Given the description of an element on the screen output the (x, y) to click on. 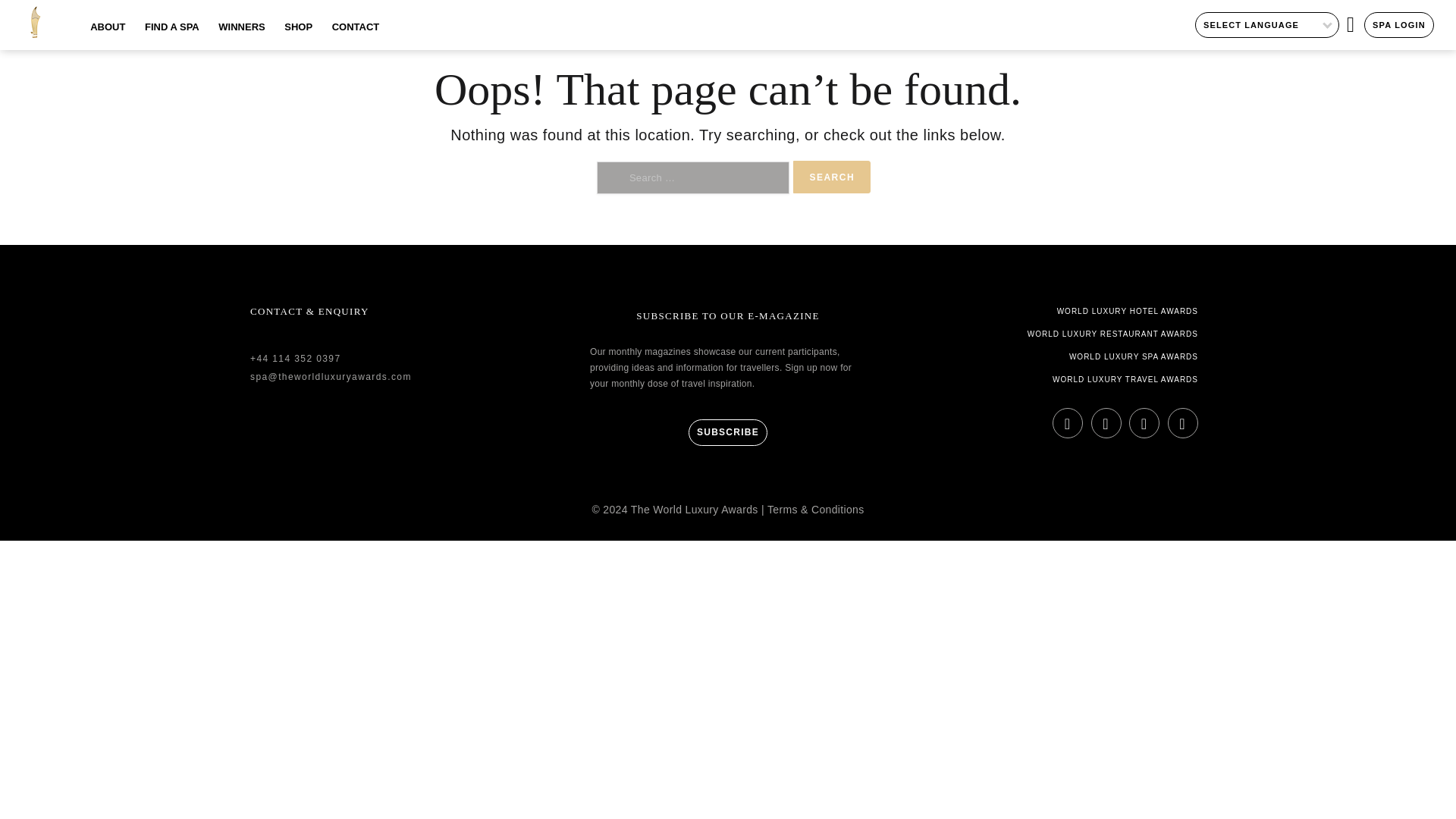
WINNERS (241, 36)
SPA LOGIN (1399, 24)
WORLD LUXURY SPA AWARDS (1067, 356)
Search (831, 176)
WORLD LUXURY RESTAURANT AWARDS (1067, 333)
SHOP (298, 36)
CONTACT (355, 36)
SUBSCRIBE (727, 432)
Search (831, 176)
ABOUT (107, 36)
